Given the description of an element on the screen output the (x, y) to click on. 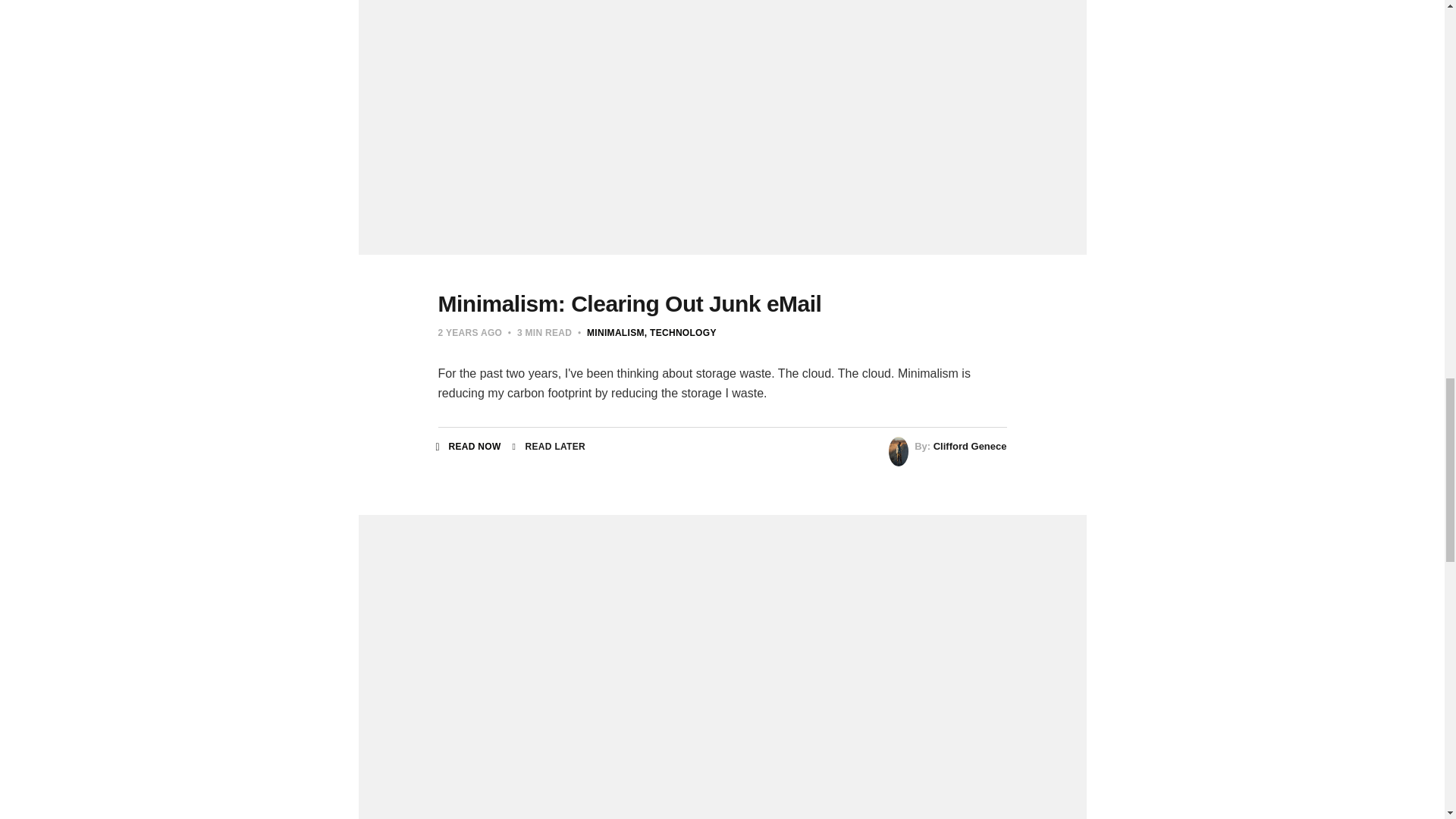
TECHNOLOGY (680, 332)
Minimalism (615, 332)
Minimalism: Clearing Out Junk eMail (630, 303)
READ LATER (548, 446)
technology (680, 332)
MINIMALISM (615, 332)
Clifford Genece (970, 446)
READ NOW (469, 446)
